Given the description of an element on the screen output the (x, y) to click on. 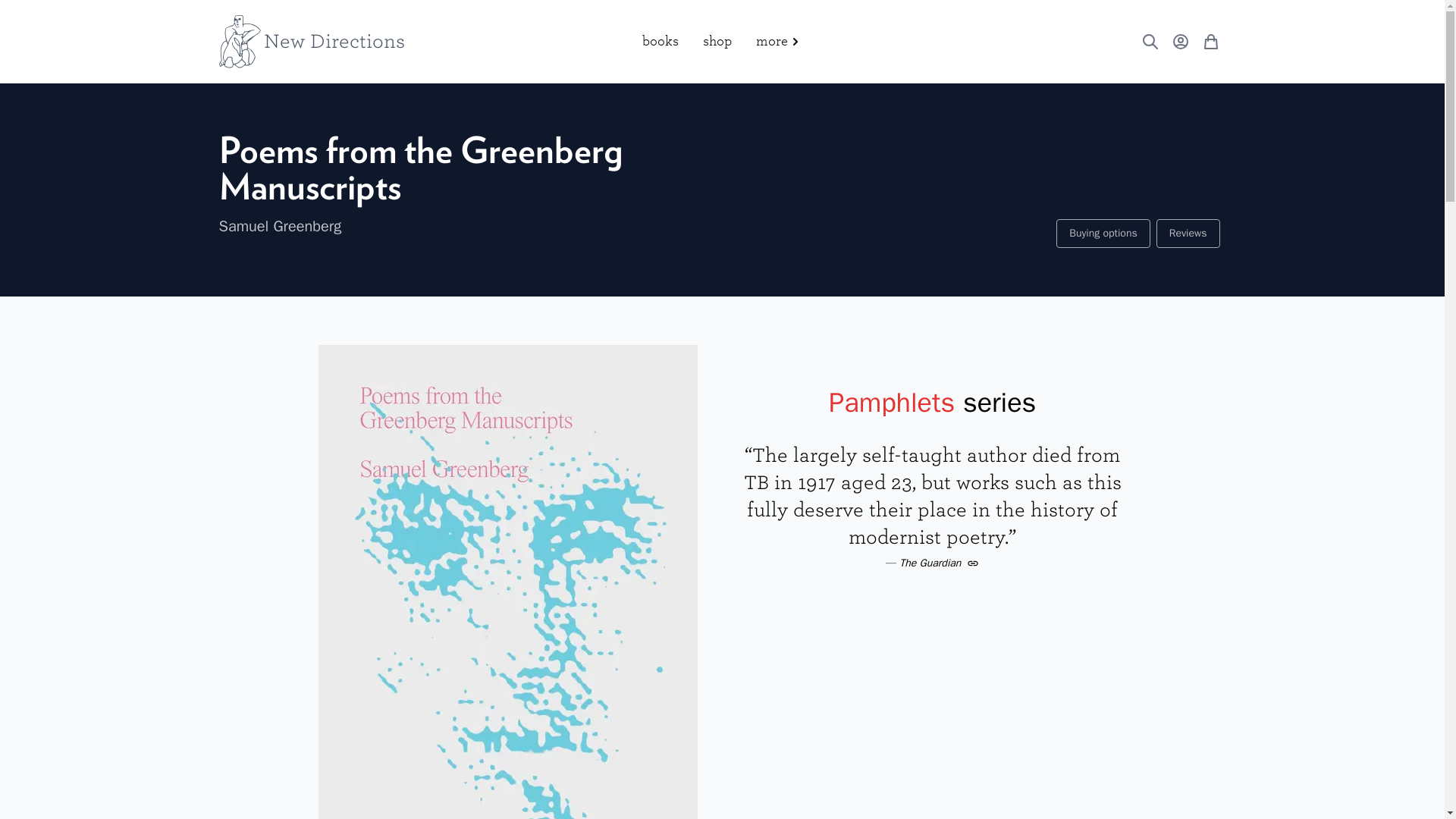
Booksmenu item (659, 41)
books (659, 41)
New Directions (311, 41)
shop (716, 41)
more (777, 41)
Search Button (1149, 41)
Shopmenu item (716, 41)
